Given the description of an element on the screen output the (x, y) to click on. 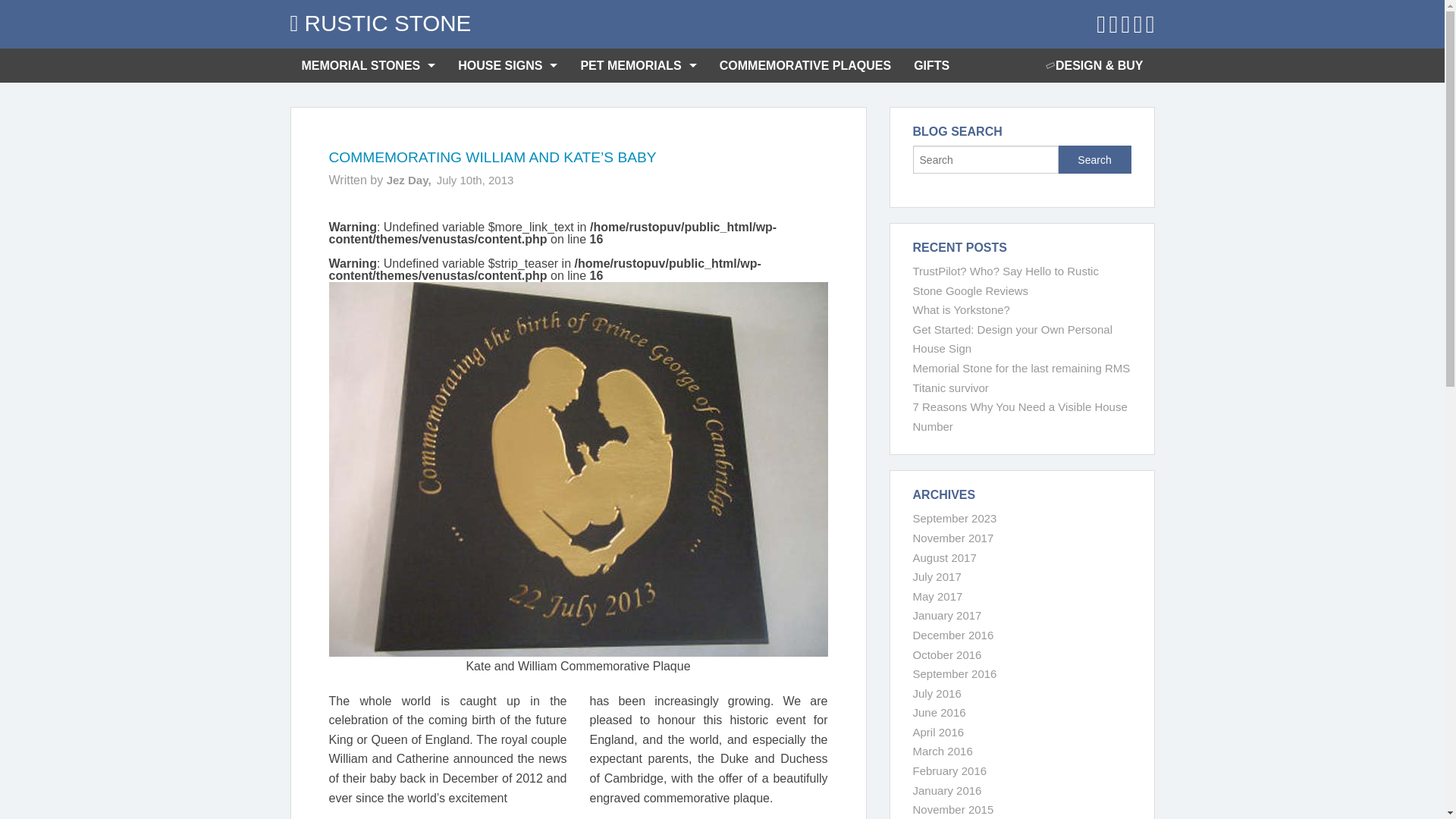
Memorial Stones (367, 65)
House Signs (507, 65)
Rustic Stone (379, 23)
PET MEMORIALS (638, 65)
Search (1094, 159)
Search (1094, 159)
COMMEMORATIVE PLAQUES (804, 65)
HOUSE SIGNS (507, 65)
MEMORIAL STONES (367, 65)
Jez Day, (408, 179)
